Given the description of an element on the screen output the (x, y) to click on. 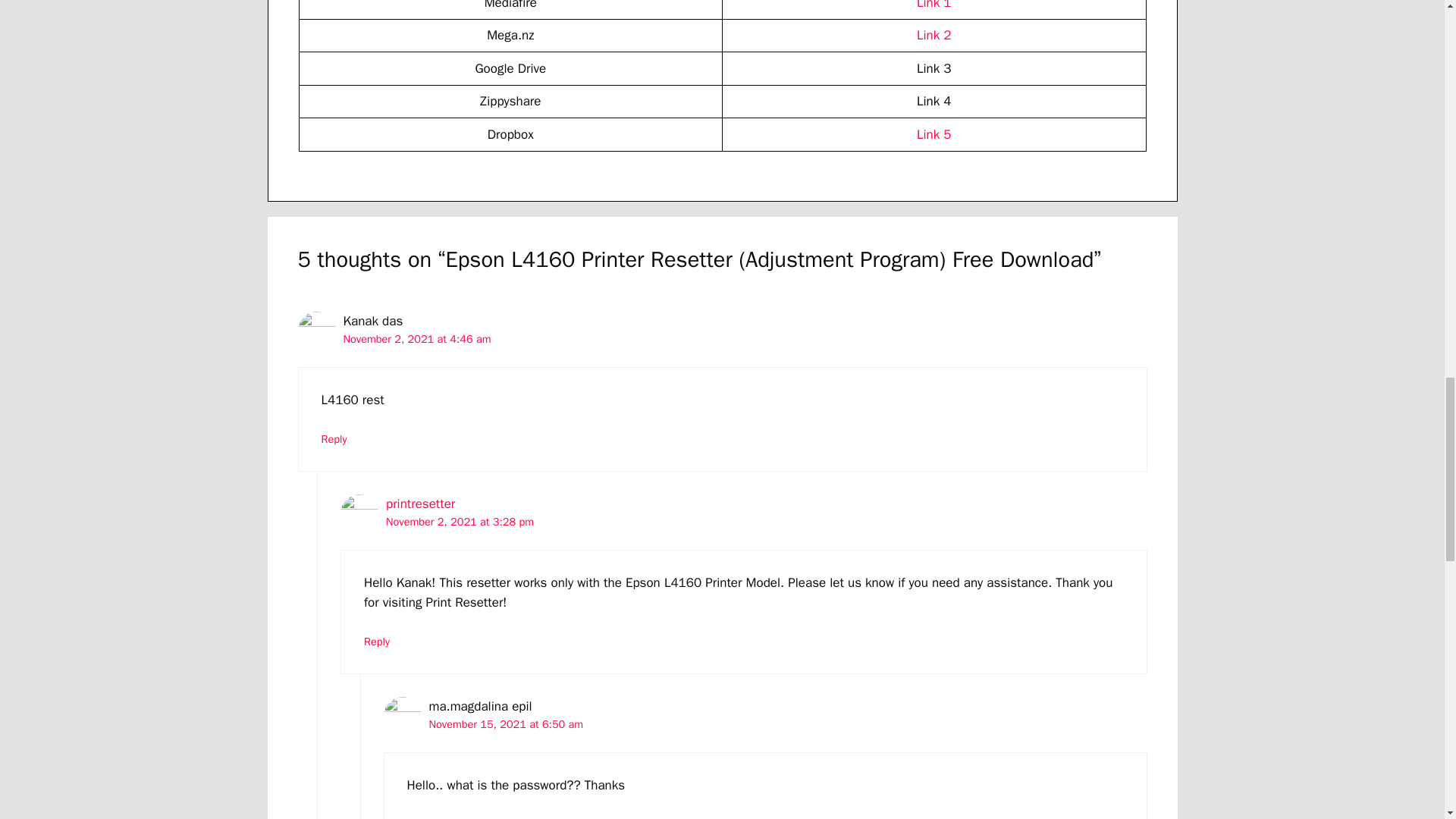
Reply (377, 641)
Reply (419, 818)
Reply (334, 438)
November 2, 2021 at 4:46 am (416, 338)
printresetter (419, 503)
Link 2 (934, 35)
November 2, 2021 at 3:28 pm (459, 521)
Link 1 (934, 5)
Link 5 (934, 134)
November 15, 2021 at 6:50 am (506, 724)
